Given the description of an element on the screen output the (x, y) to click on. 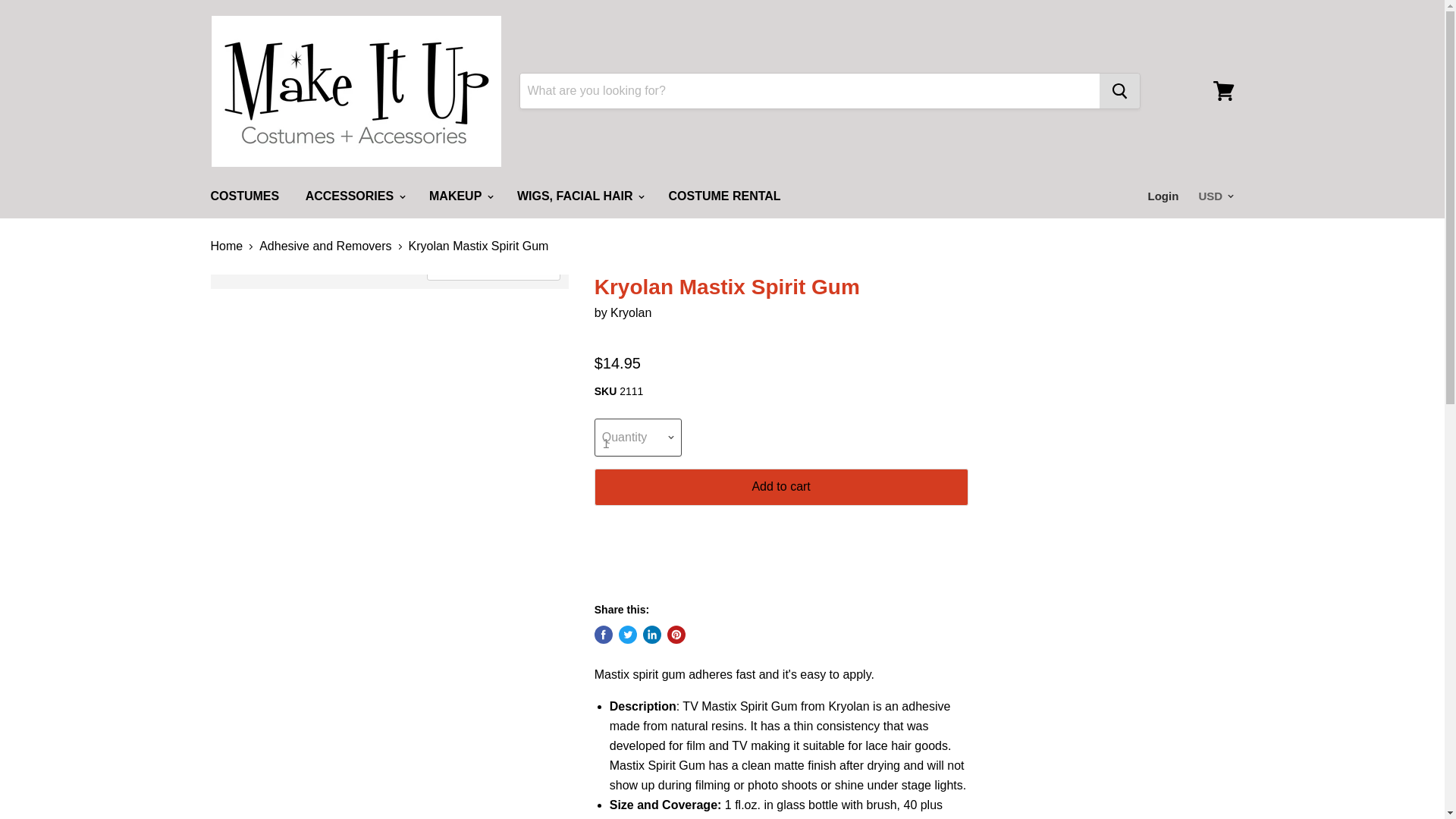
Kryolan (630, 312)
COSTUMES (243, 196)
View cart (1223, 90)
ACCESSORIES (354, 196)
